Given the description of an element on the screen output the (x, y) to click on. 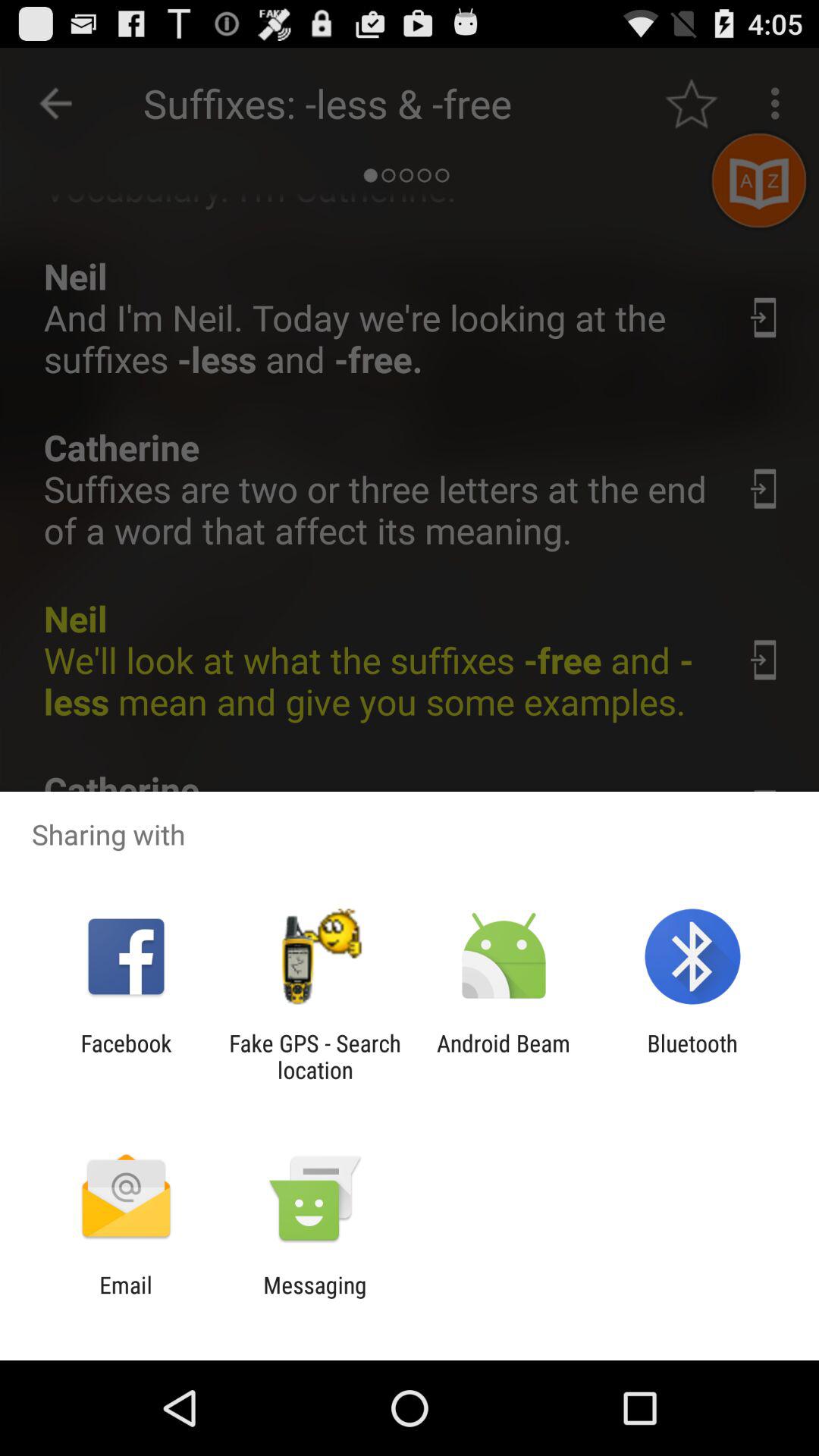
press item next to the messaging (125, 1298)
